Given the description of an element on the screen output the (x, y) to click on. 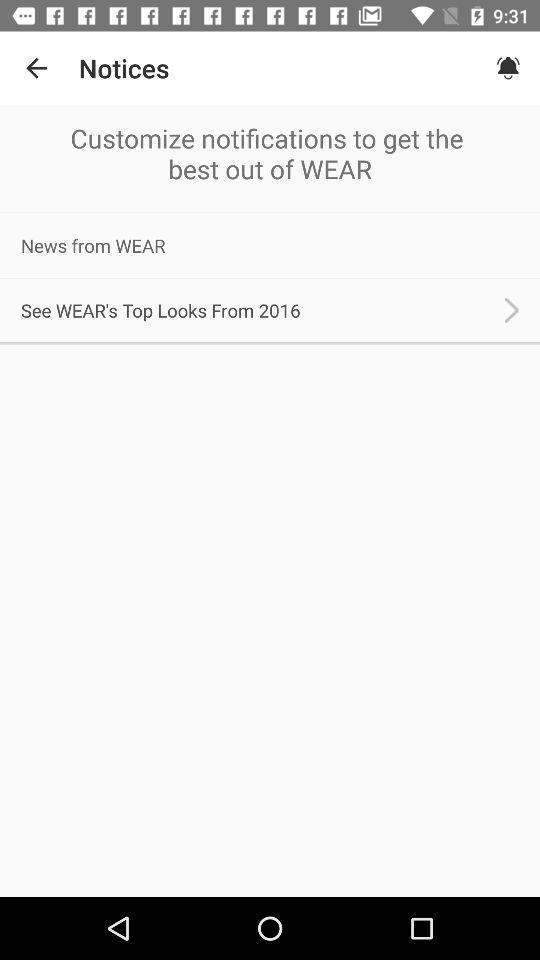
click icon next to notices (36, 68)
